Given the description of an element on the screen output the (x, y) to click on. 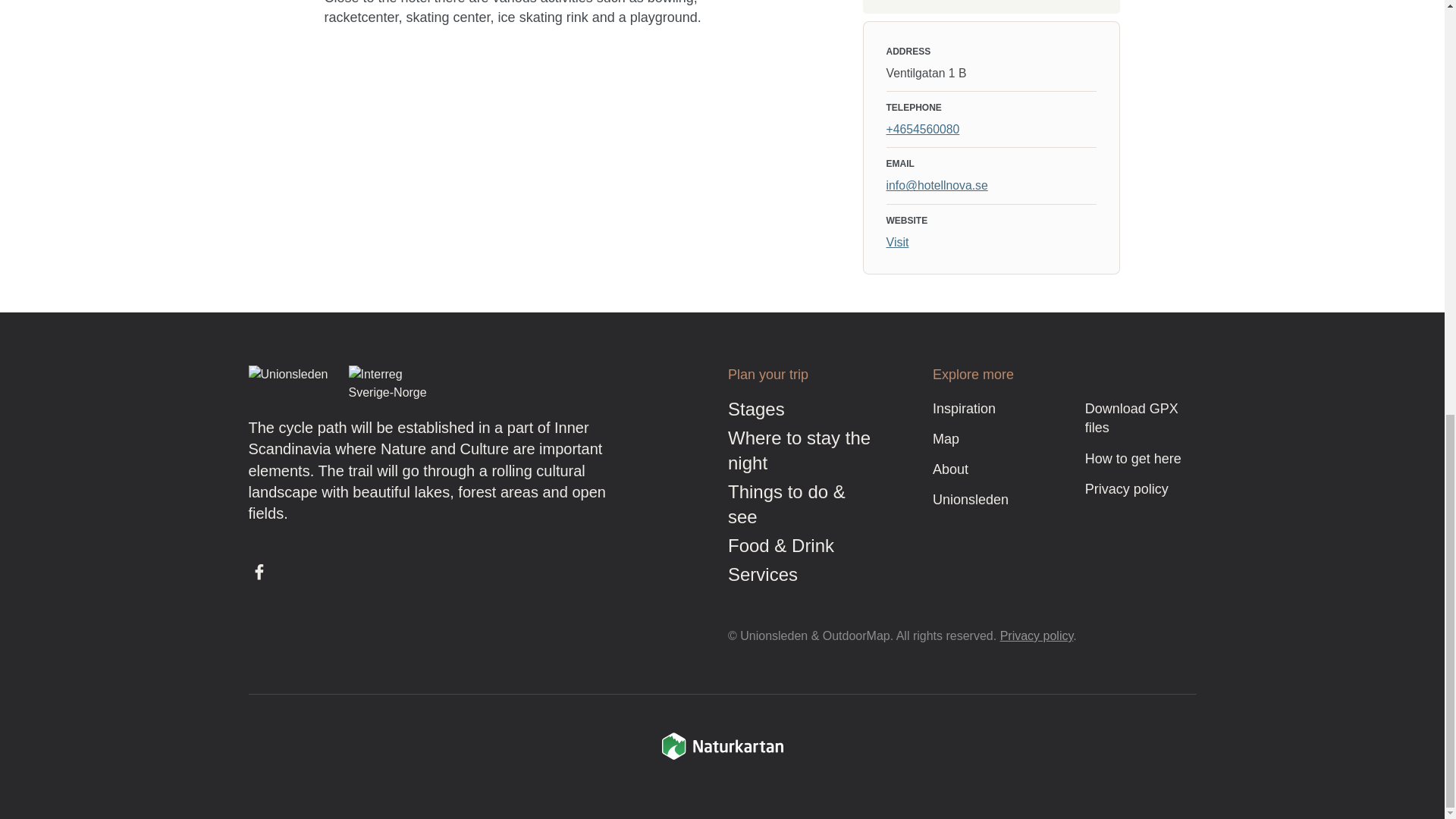
Inspiration (964, 408)
Naturkartan (722, 757)
Download GPX files (1130, 418)
Services (762, 574)
Unionsleden (290, 383)
Facebook (259, 572)
About (950, 468)
Visit (896, 241)
Unionsleden (971, 499)
Interreg Sverige-Norge (391, 383)
